Given the description of an element on the screen output the (x, y) to click on. 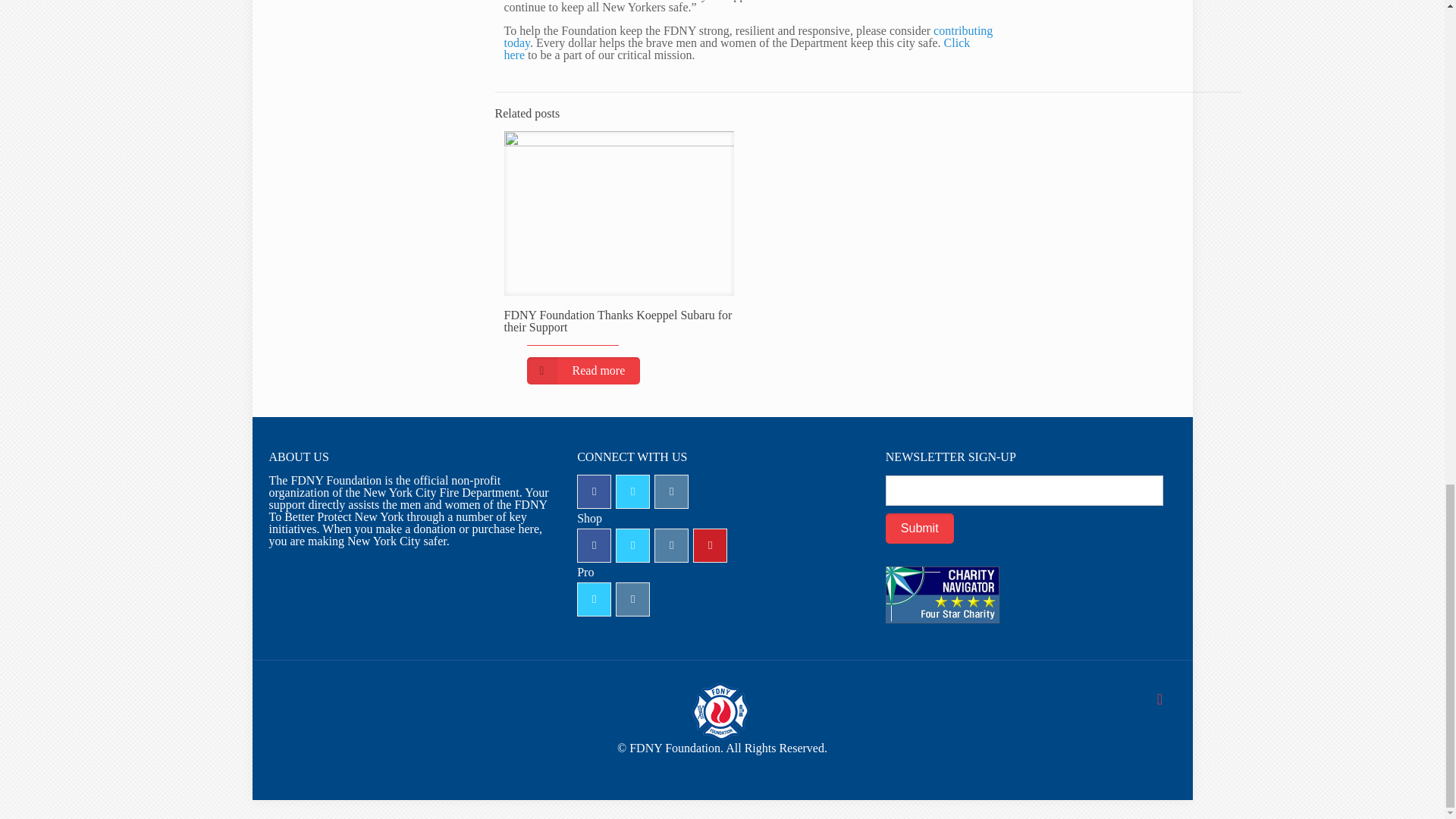
Submit (919, 528)
Click here (736, 48)
contributing today (747, 36)
